Given the description of an element on the screen output the (x, y) to click on. 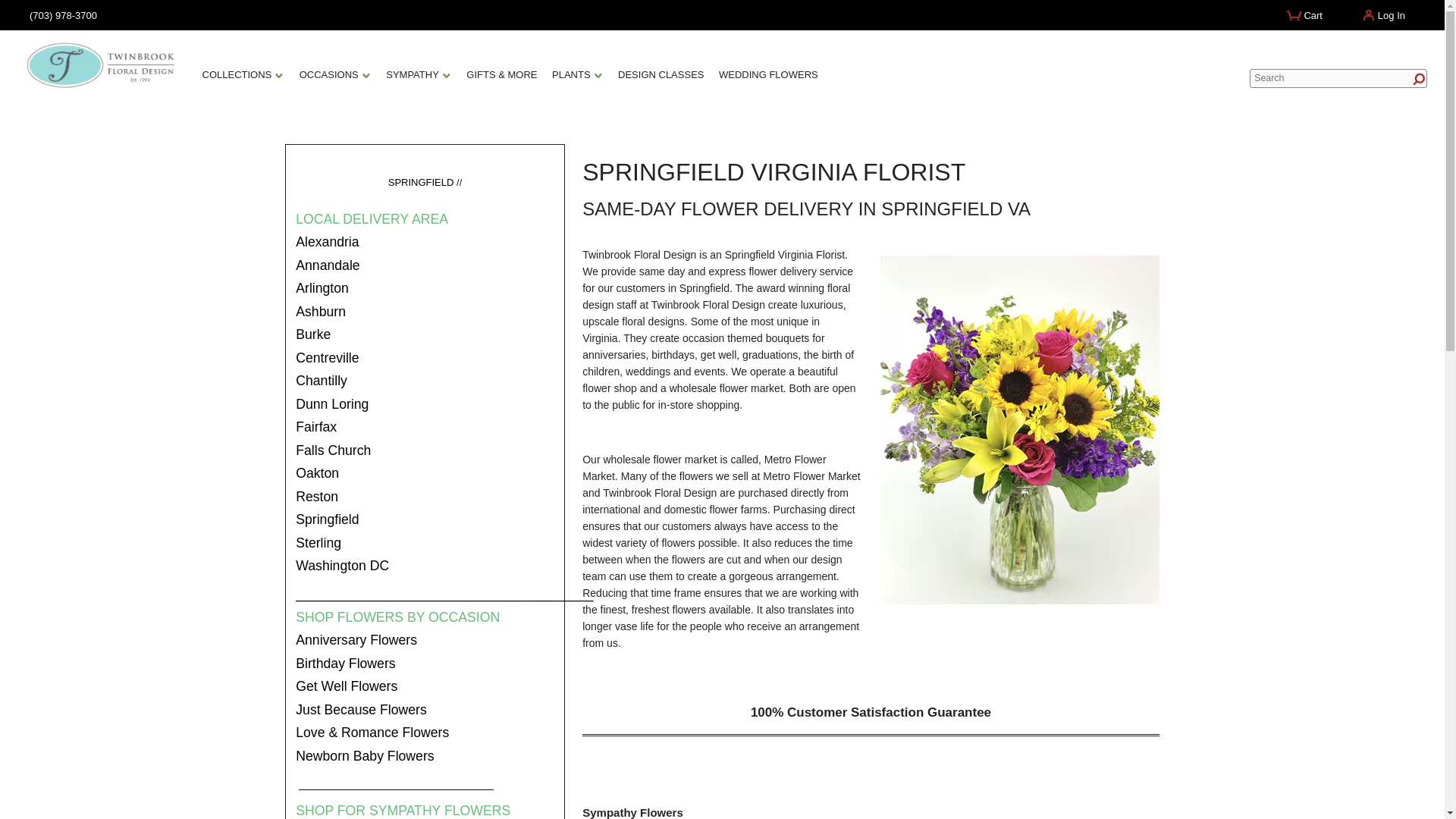
OCCASIONS (334, 80)
Cart (1311, 21)
Go (1415, 79)
COLLECTIONS (242, 80)
Search (1337, 77)
Log In (1388, 18)
log In (1388, 18)
